Given the description of an element on the screen output the (x, y) to click on. 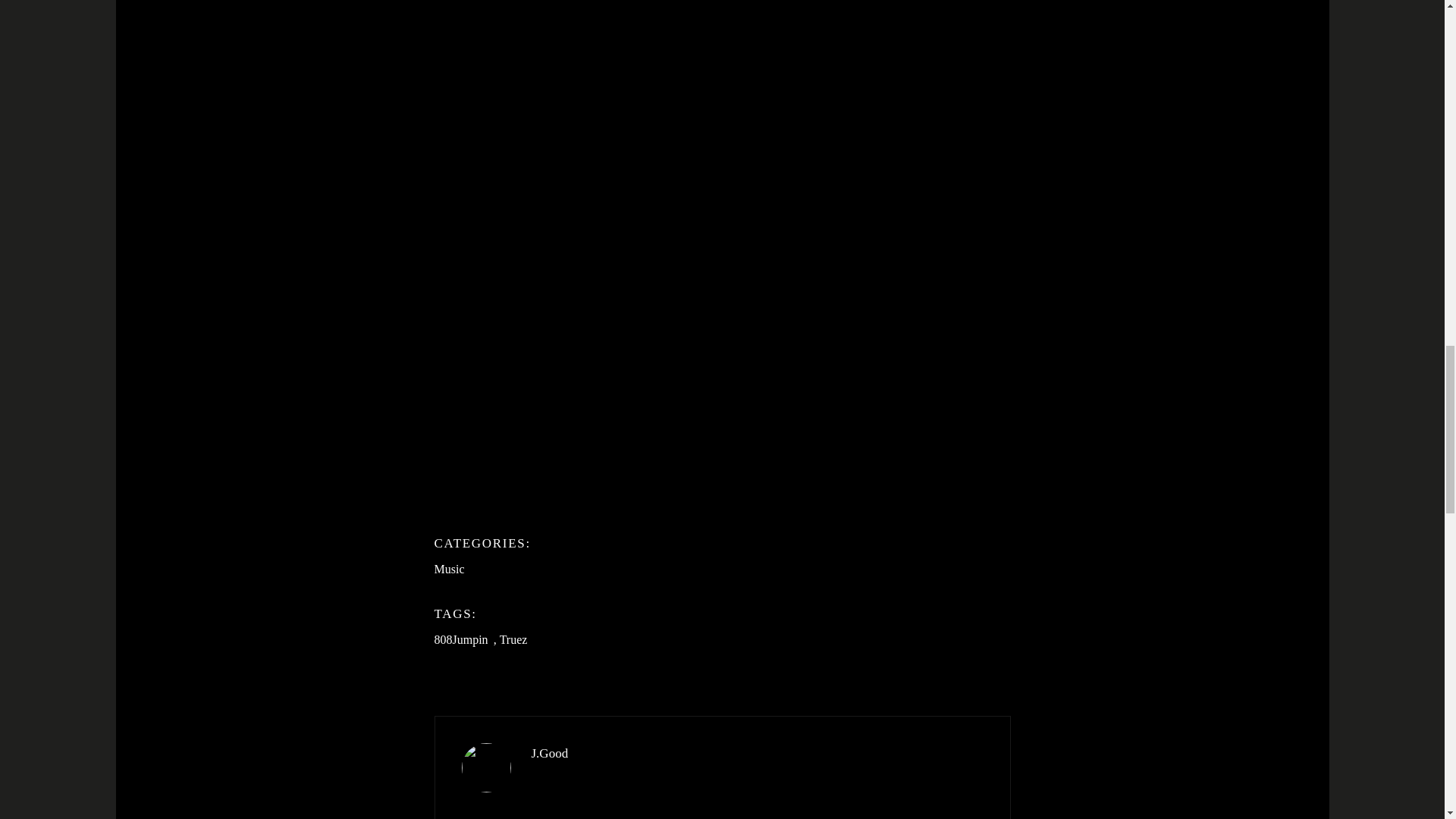
Truez (513, 639)
Music (448, 569)
808Jumpin (460, 639)
